Given the description of an element on the screen output the (x, y) to click on. 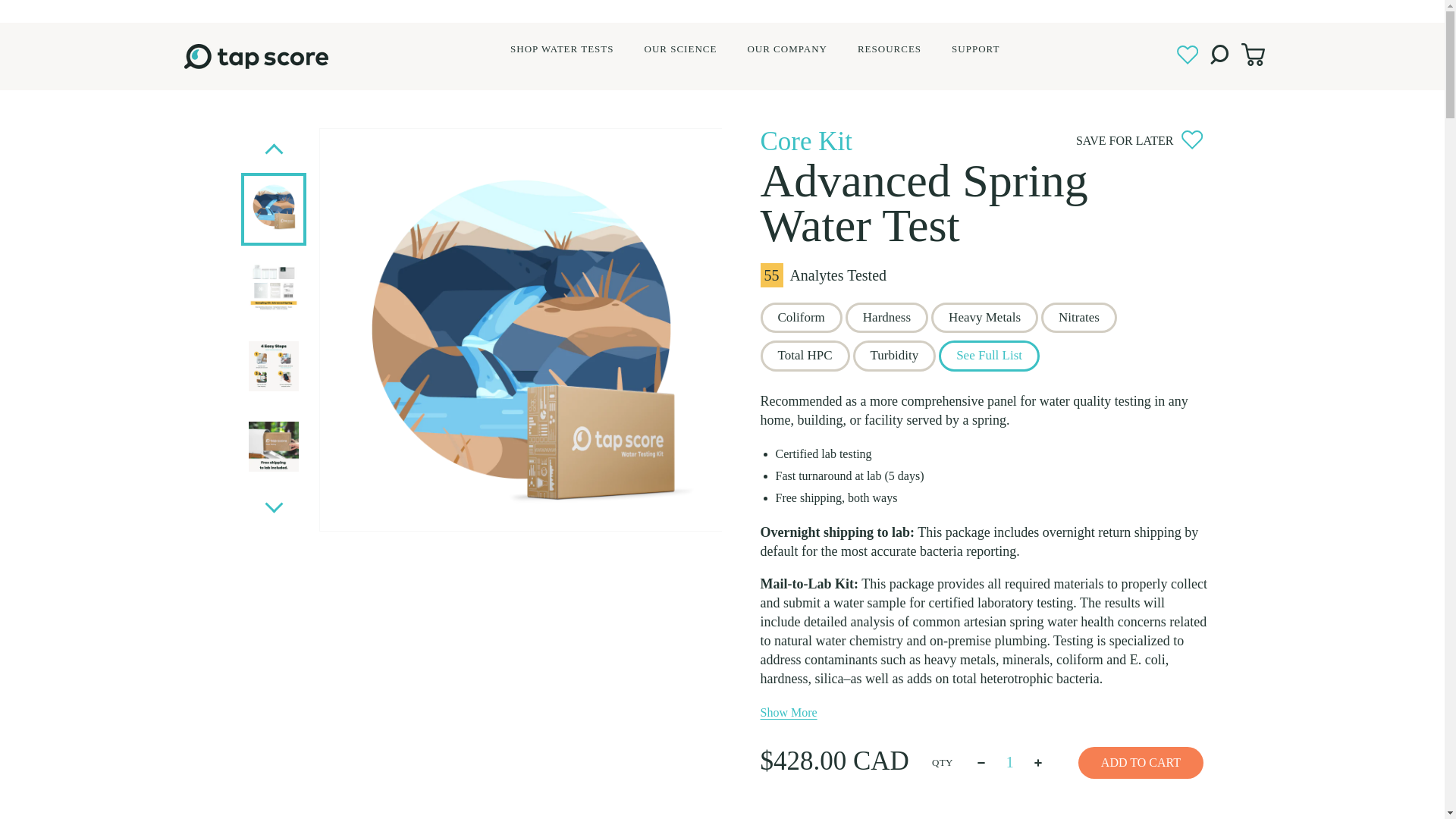
Cart (1252, 54)
